Given the description of an element on the screen output the (x, y) to click on. 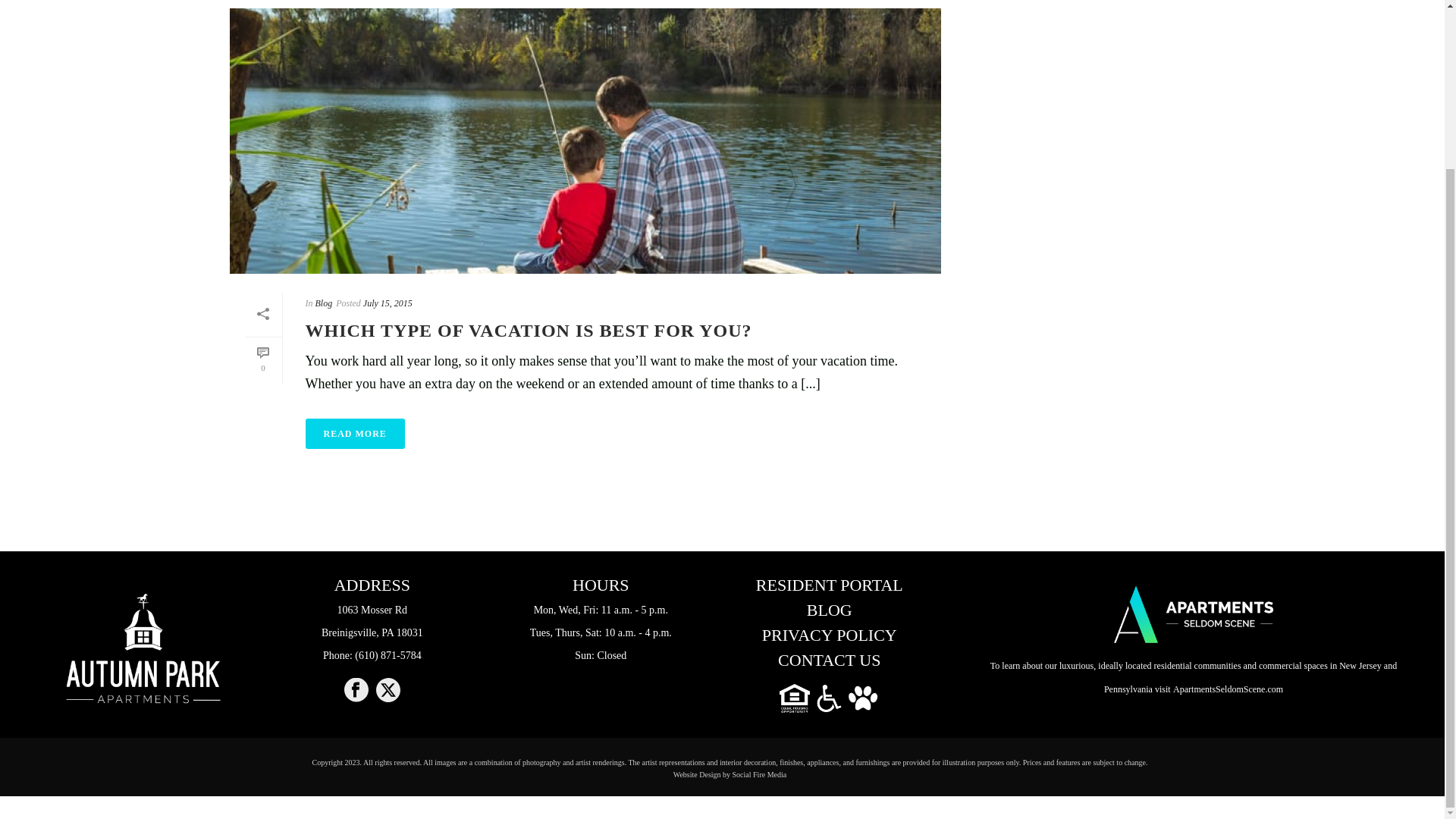
RESIDENT PORTAL (828, 586)
Autumn Park Logo (143, 648)
READ MORE (372, 621)
Handicap Accessible (354, 433)
BLOG (829, 697)
 facebook (828, 612)
WHICH TYPE OF VACATION IS BEST FOR YOU? (355, 691)
Blog (527, 330)
Pet Friendly (324, 303)
Apartments Seldom Scene Logo (862, 697)
READ MORE (1193, 614)
July 15, 2015 (354, 433)
